Given the description of an element on the screen output the (x, y) to click on. 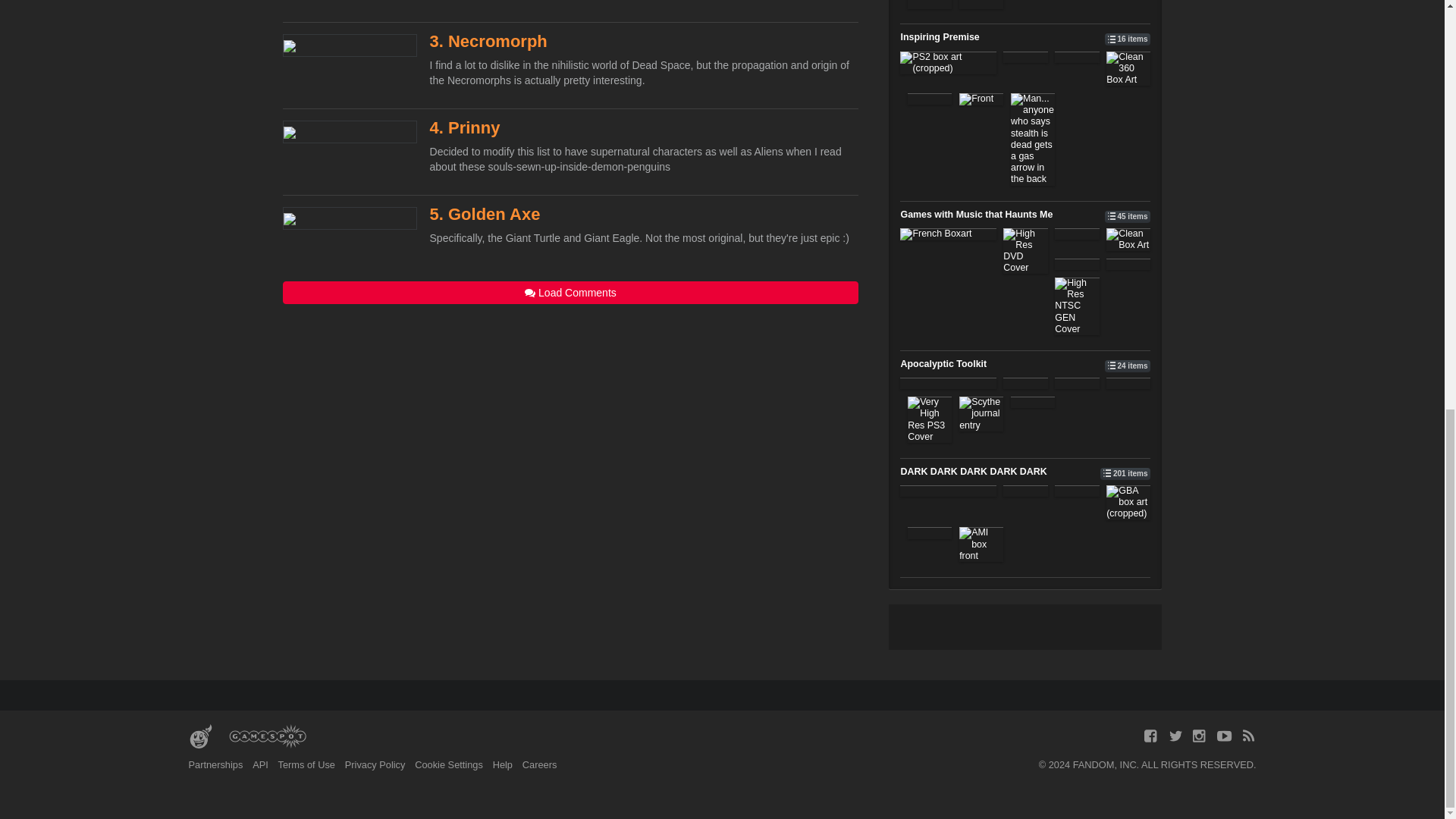
GameSpot (266, 736)
RSS (1248, 736)
Giant Bomb (199, 736)
